Given the description of an element on the screen output the (x, y) to click on. 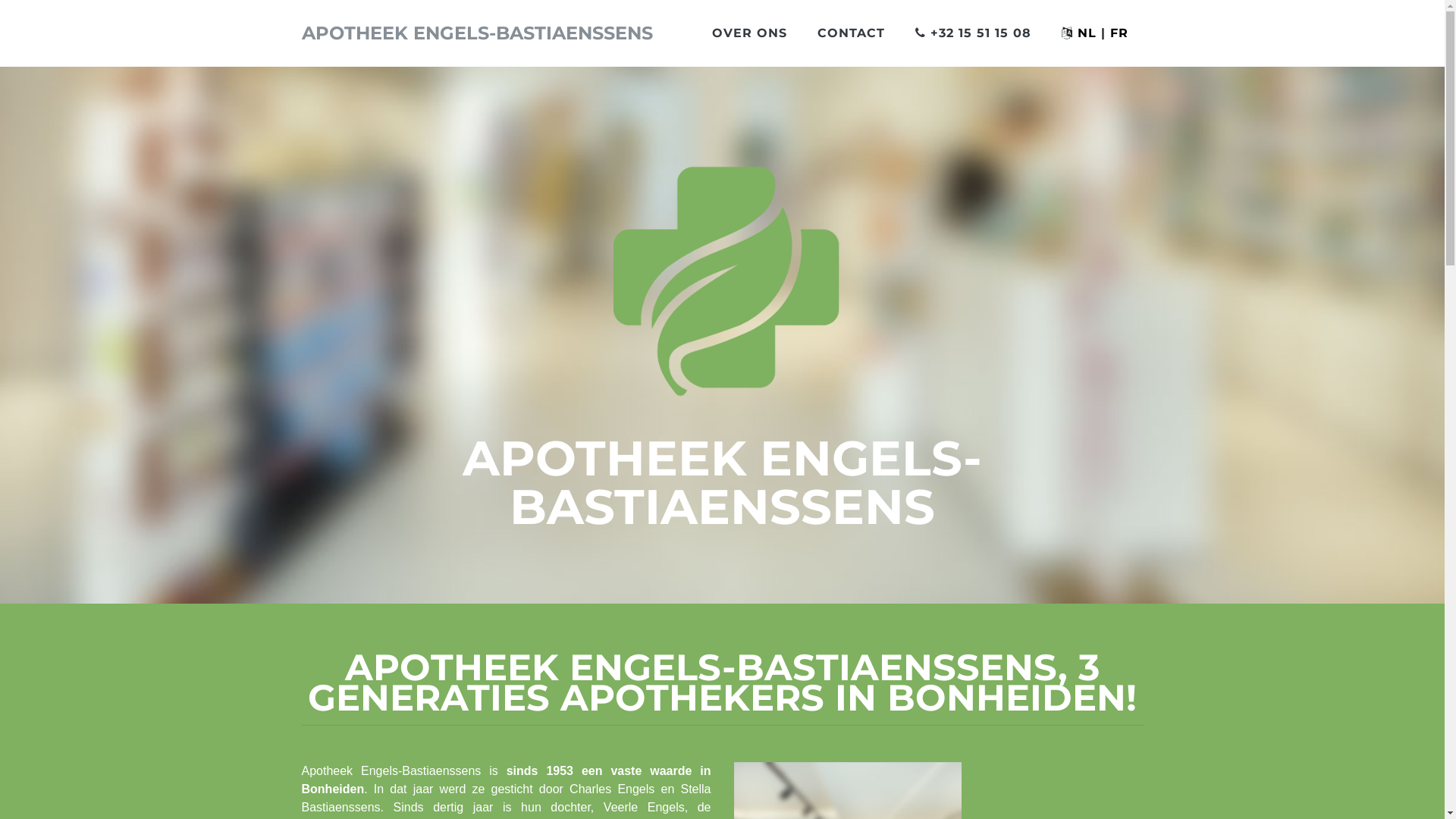
+32 15 51 15 08 Element type: text (972, 33)
OVER ONS Element type: text (748, 33)
CONTACT Element type: text (851, 33)
APOTHEEK ENGELS-BASTIAENSSENS Element type: text (476, 32)
FR Element type: text (1119, 32)
NL Element type: text (1085, 32)
